Given the description of an element on the screen output the (x, y) to click on. 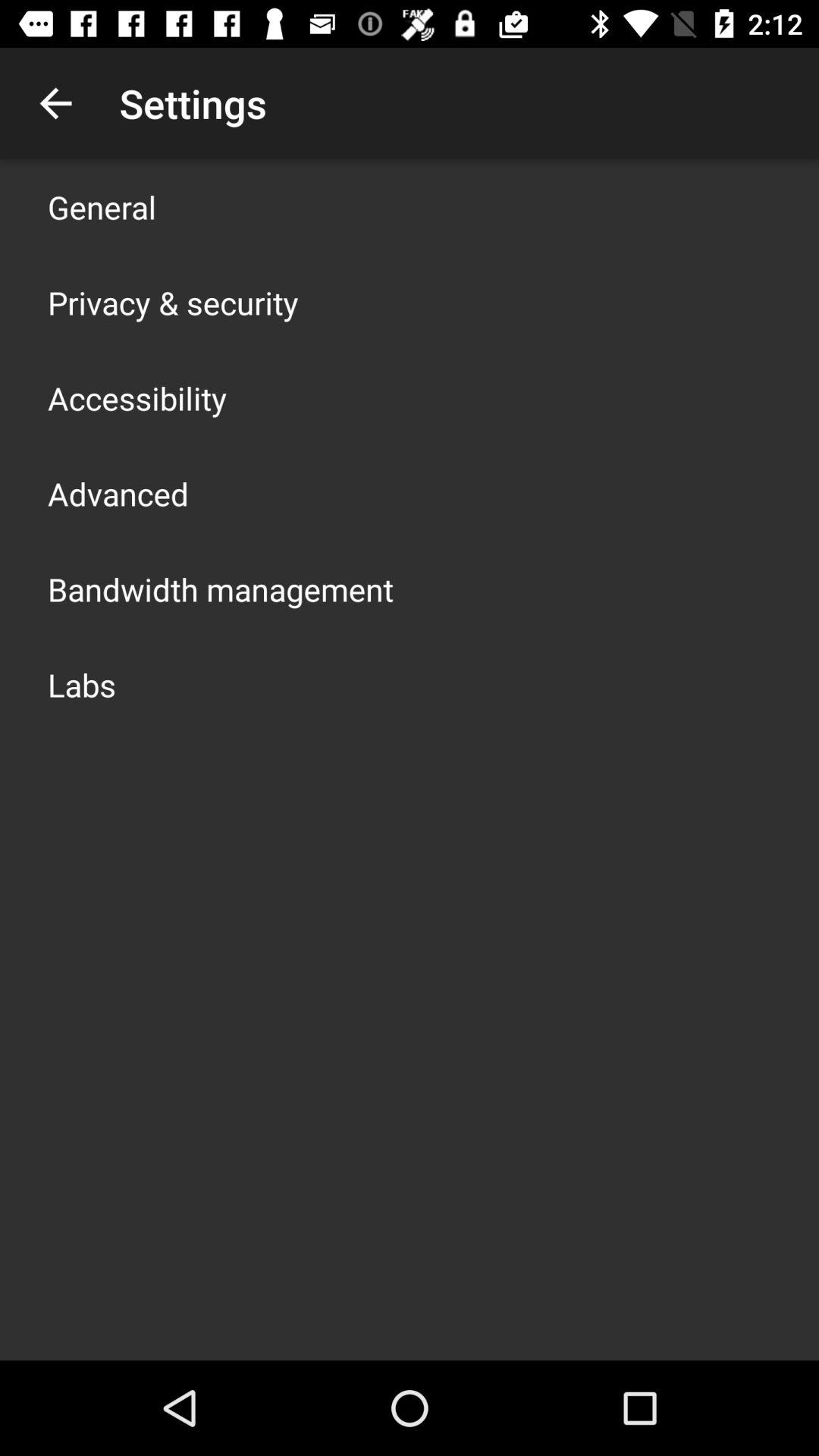
jump until privacy & security icon (172, 302)
